Given the description of an element on the screen output the (x, y) to click on. 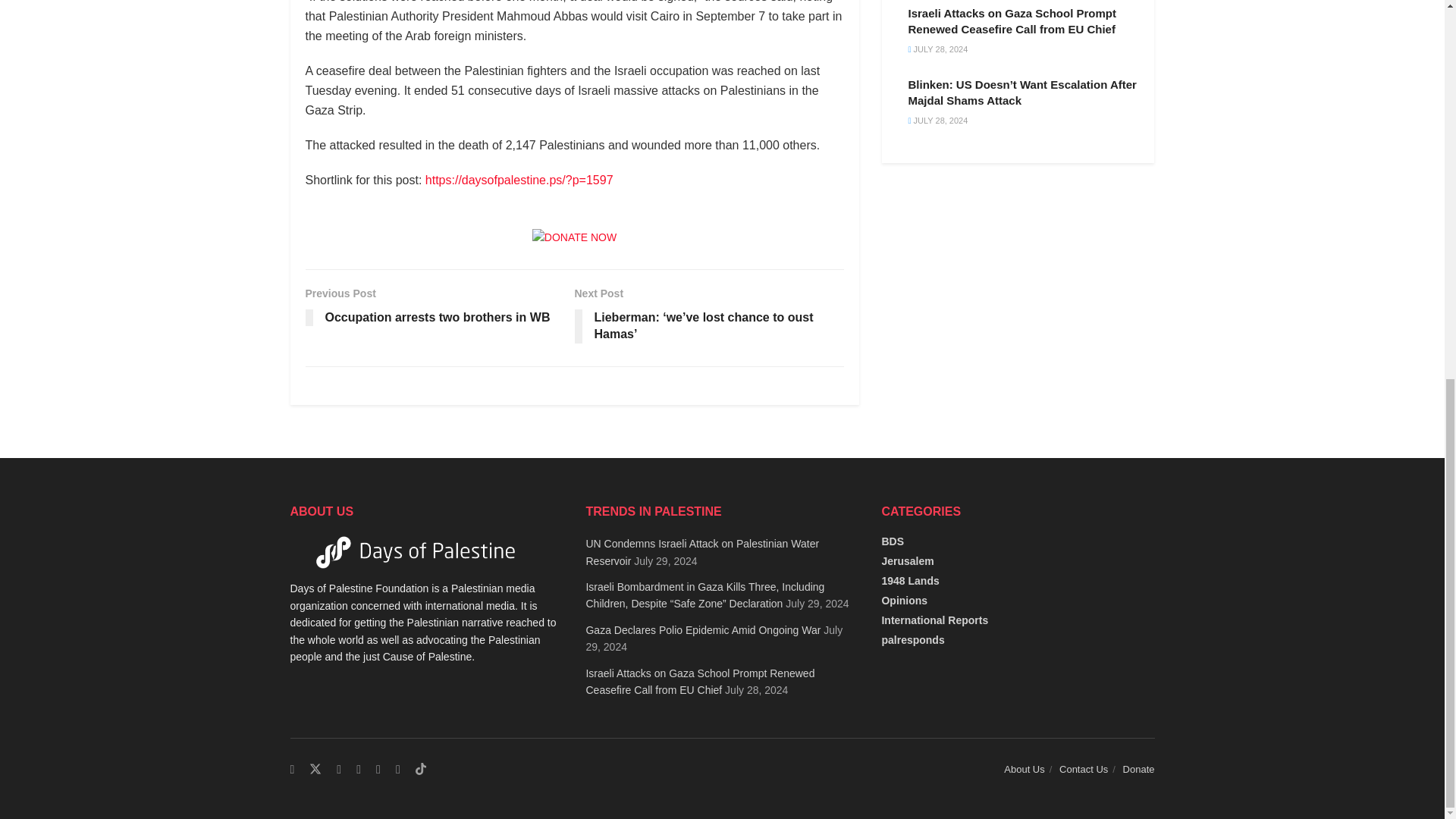
Palestinian-Israeli ceasefire talks to resume this week (518, 179)
